Given the description of an element on the screen output the (x, y) to click on. 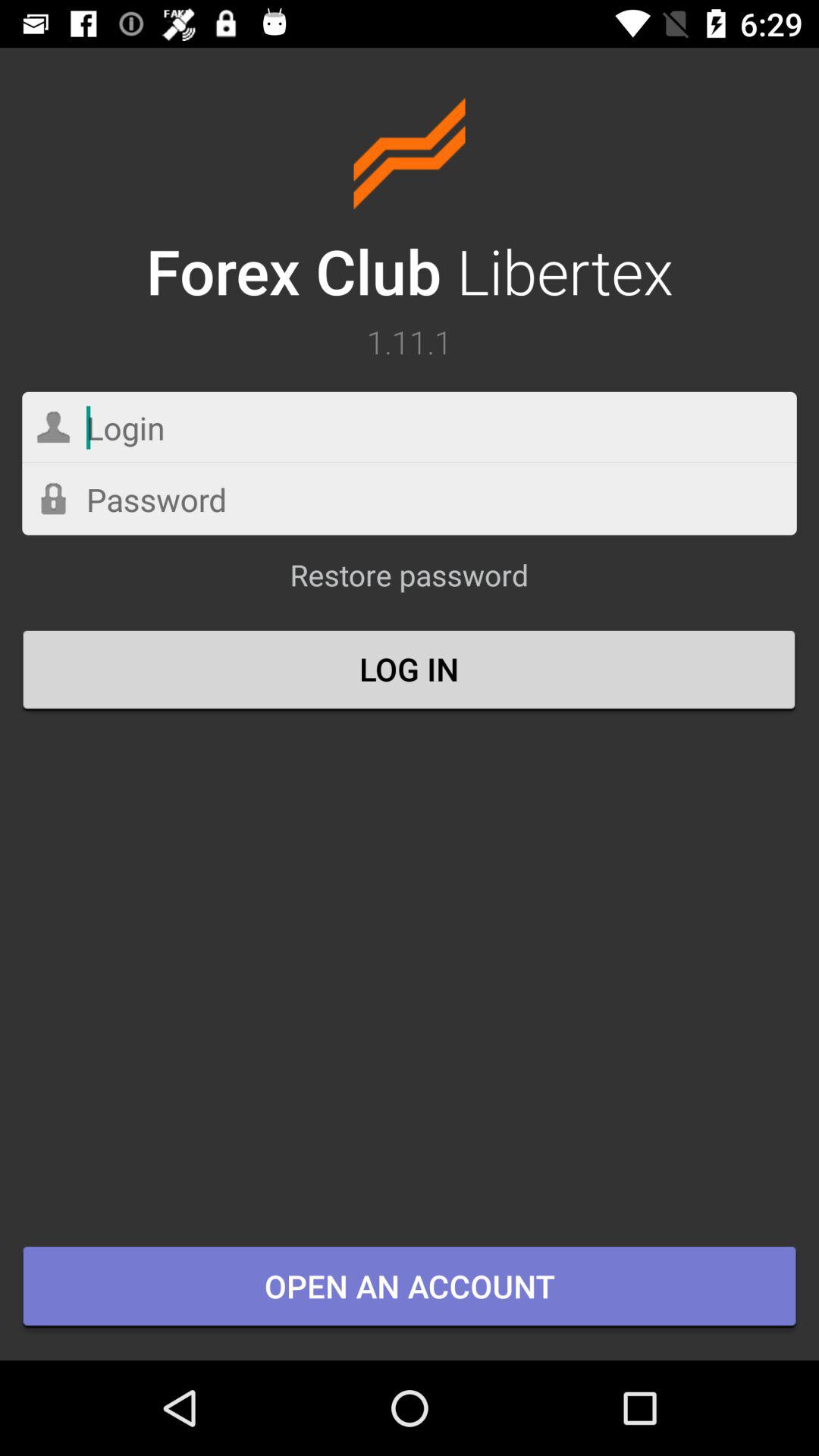
tap the icon above the open an account icon (409, 671)
